Given the description of an element on the screen output the (x, y) to click on. 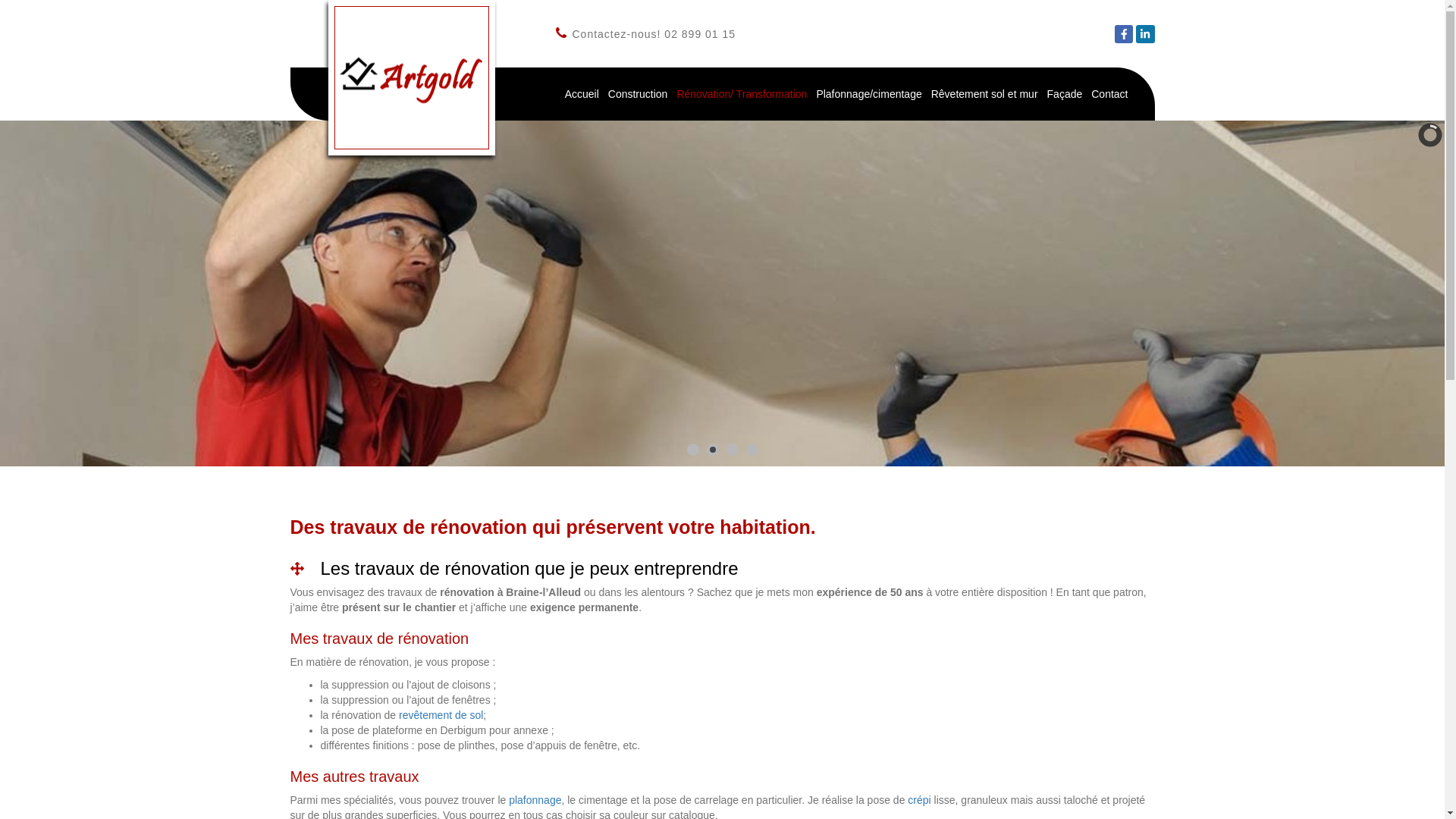
Facebook Element type: hover (1123, 34)
ARTGOLD SPRL Element type: hover (411, 77)
Contact Element type: text (1109, 93)
LinkedIn Element type: hover (1144, 34)
Plafonnage/cimentage Element type: text (868, 93)
plafonnage Element type: text (534, 799)
Accueil Element type: text (581, 93)
Construction Element type: text (638, 93)
